Given the description of an element on the screen output the (x, y) to click on. 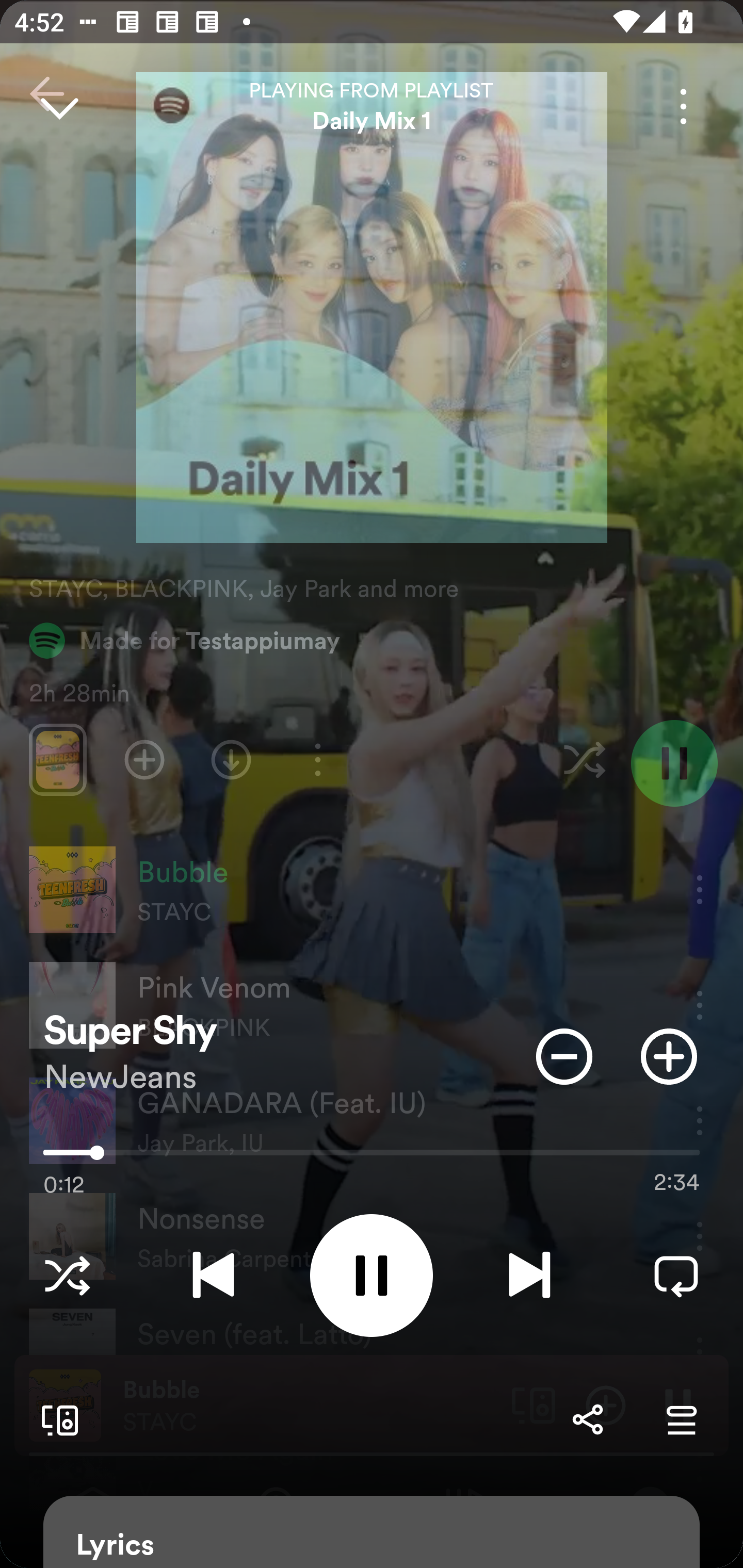
Close (59, 106)
More options for song Super Shy (683, 106)
PLAYING FROM PLAYLIST Daily Mix 1 (371, 106)
Don't play this (564, 1056)
Add item (669, 1056)
0:12 2:34 12314.0 Use volume keys to adjust (371, 1157)
Pause (371, 1275)
Previous (212, 1275)
Next (529, 1275)
Shuffle tracks (66, 1275)
Repeat (676, 1275)
Share (587, 1419)
Go to Queue (681, 1419)
Connect to a device. Opens the devices menu (55, 1419)
Lyrics (371, 1531)
